Given the description of an element on the screen output the (x, y) to click on. 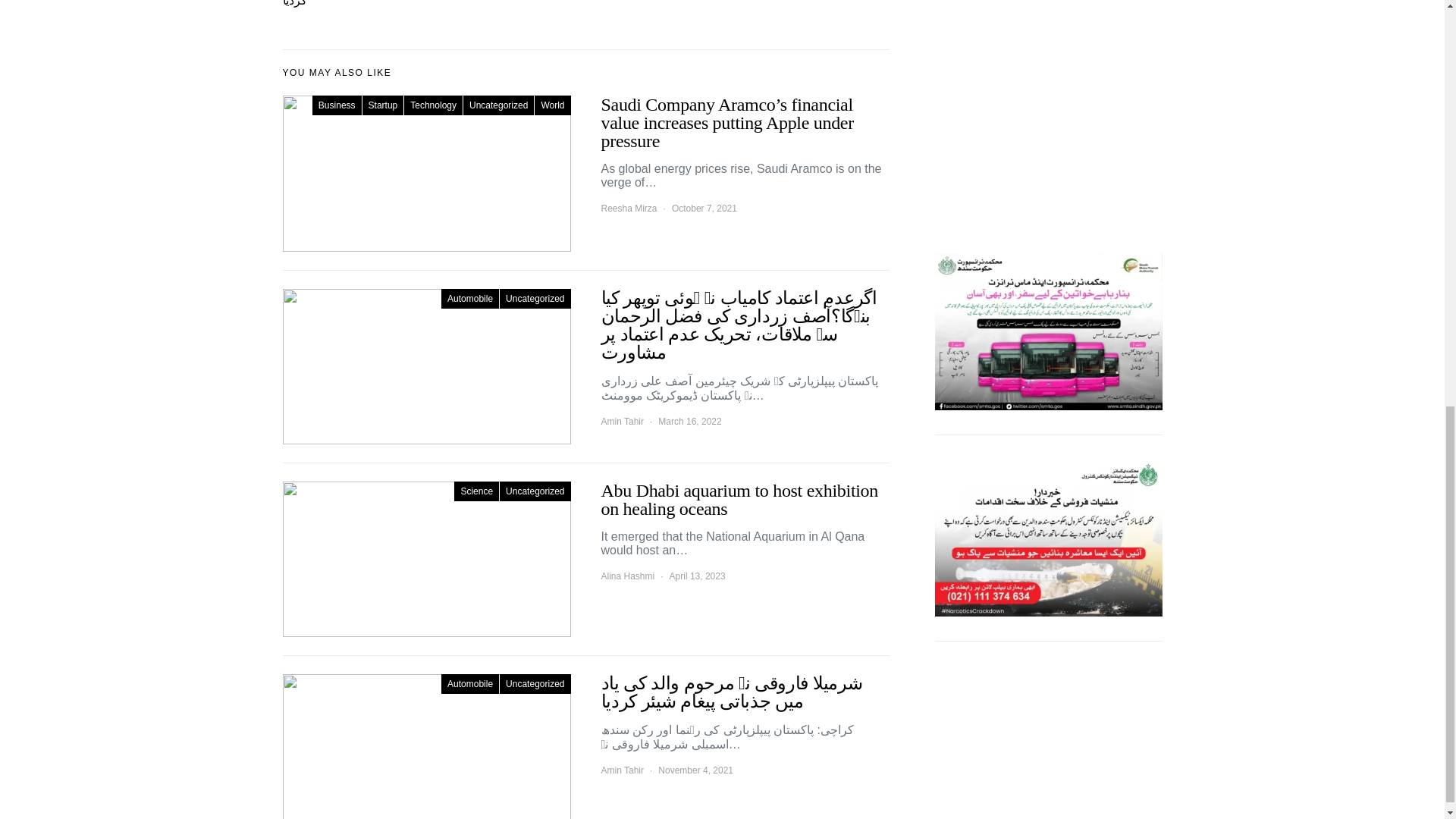
View all posts by Amin Tahir (621, 770)
View all posts by Reesha Mirza (627, 208)
View all posts by Alina Hashmi (626, 576)
Anwar Maqsood (1047, 27)
View all posts by Amin Tahir (621, 421)
